Given the description of an element on the screen output the (x, y) to click on. 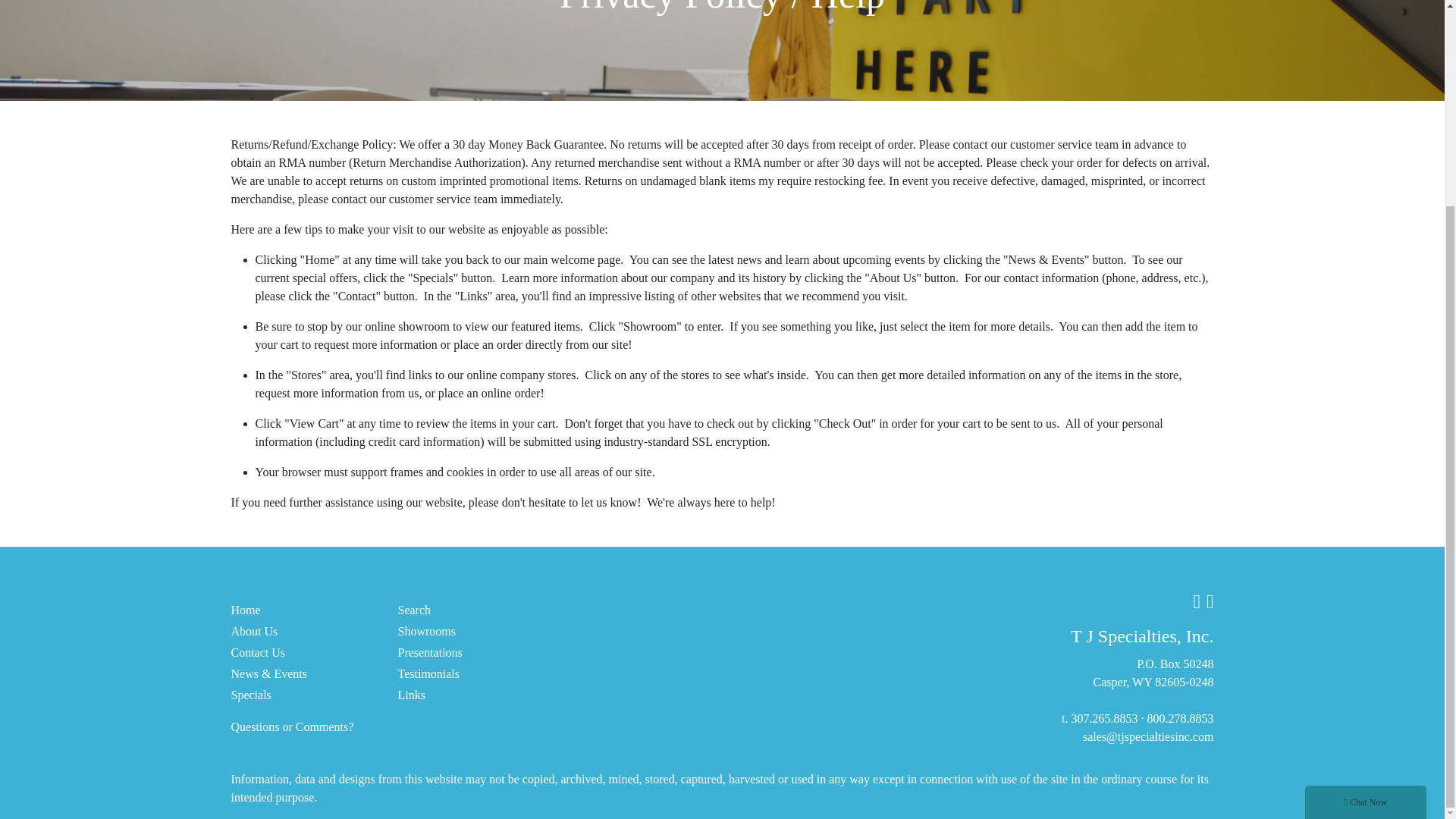
Chat Now (1365, 536)
